Given the description of an element on the screen output the (x, y) to click on. 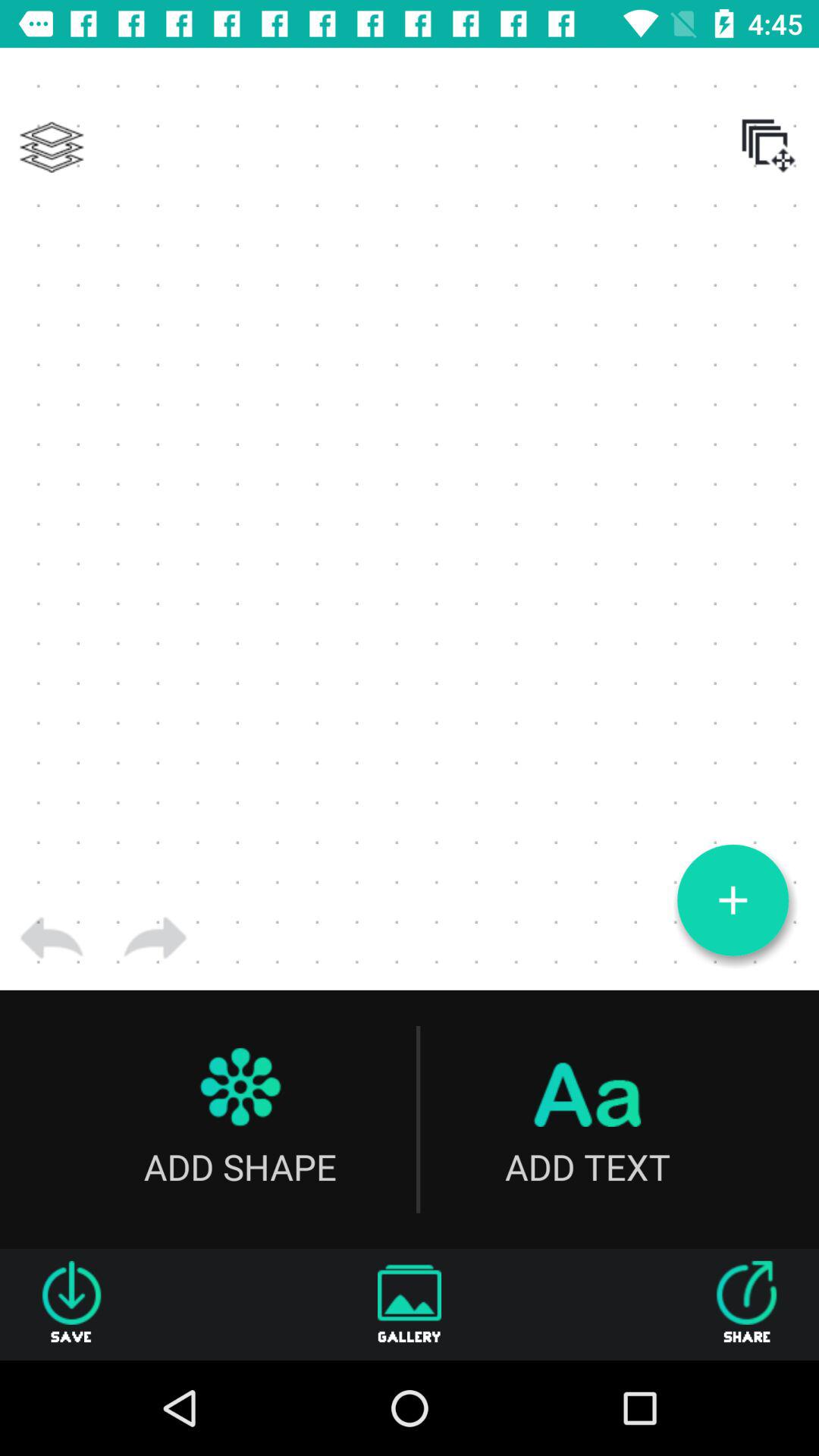
click add shape icon (239, 1119)
